Given the description of an element on the screen output the (x, y) to click on. 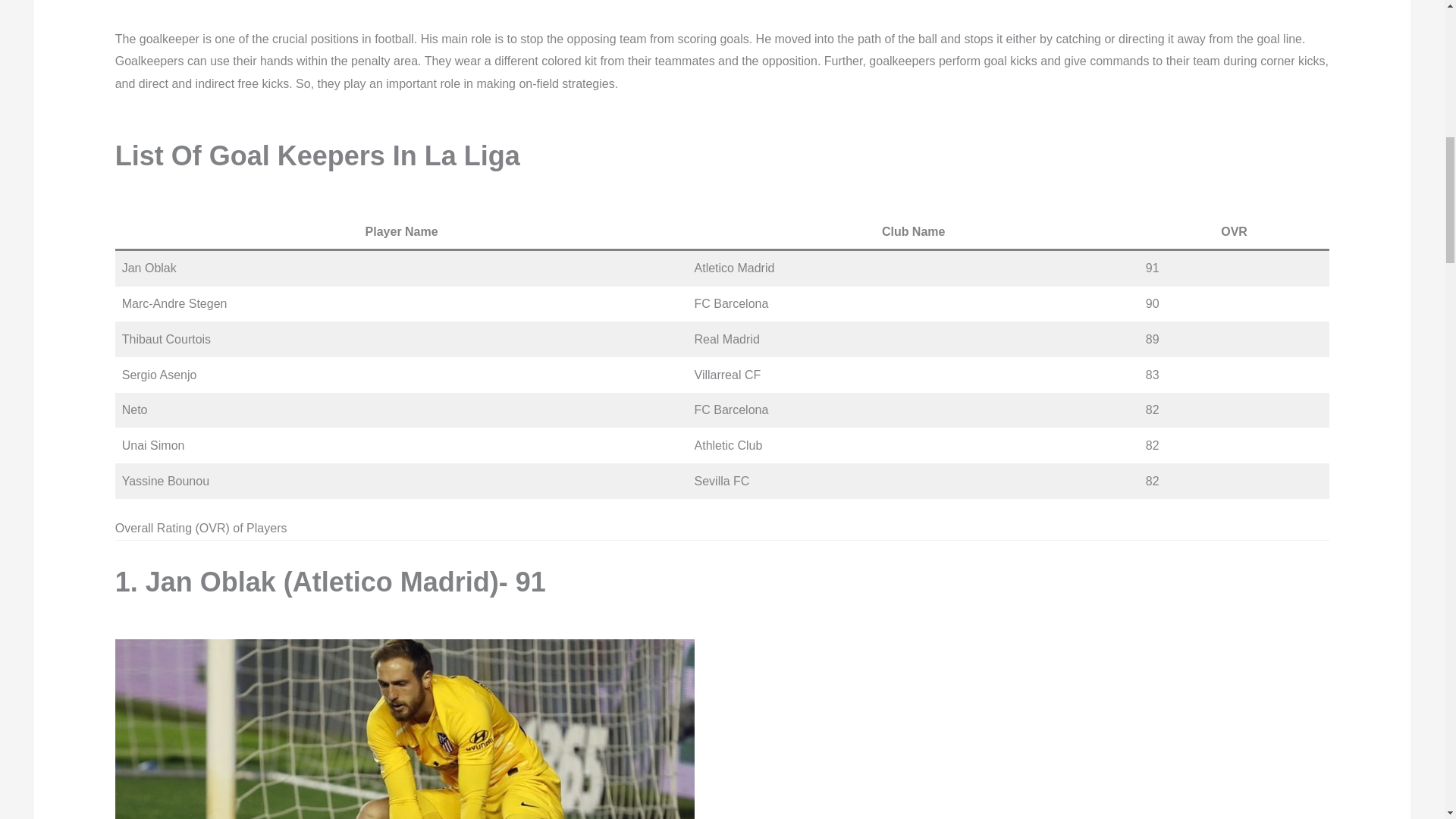
Jan Oblak Is The Best Goal Keeper In La Liga (404, 729)
